Given the description of an element on the screen output the (x, y) to click on. 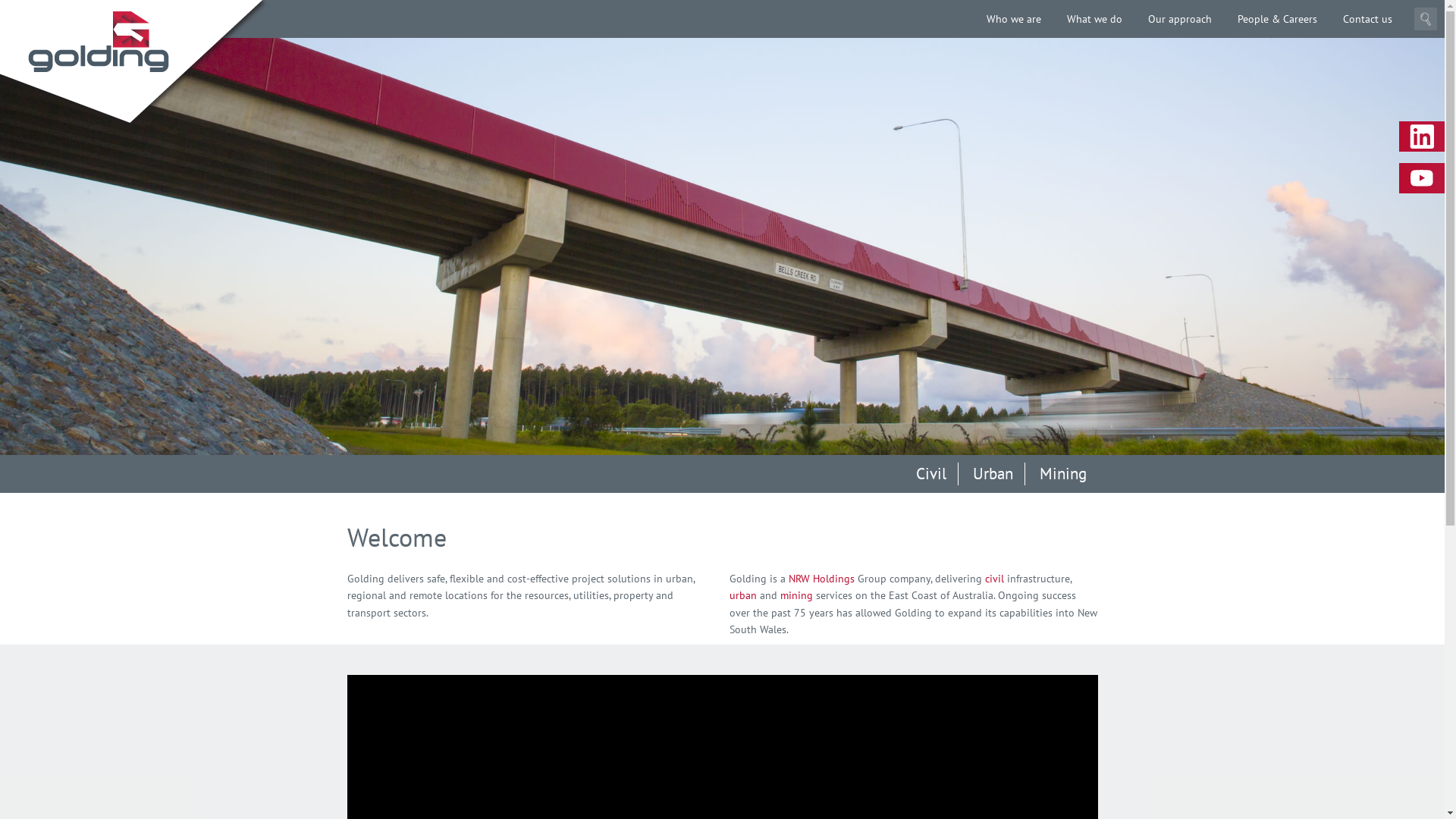
civil Element type: text (994, 578)
Our approach Element type: text (1179, 18)
Mining Element type: text (1063, 473)
People & Careers Element type: text (1277, 18)
Youtube Element type: text (1421, 178)
NRW Holdings Element type: text (821, 578)
Who we are Element type: text (1013, 18)
What we do Element type: text (1094, 18)
urban Element type: text (742, 595)
Linkedin Element type: text (1421, 136)
Urban Element type: text (993, 473)
Civil Element type: text (930, 473)
Home Element type: text (98, 41)
Contact us Element type: text (1367, 18)
mining Element type: text (796, 595)
Search Element type: text (1425, 18)
